Given the description of an element on the screen output the (x, y) to click on. 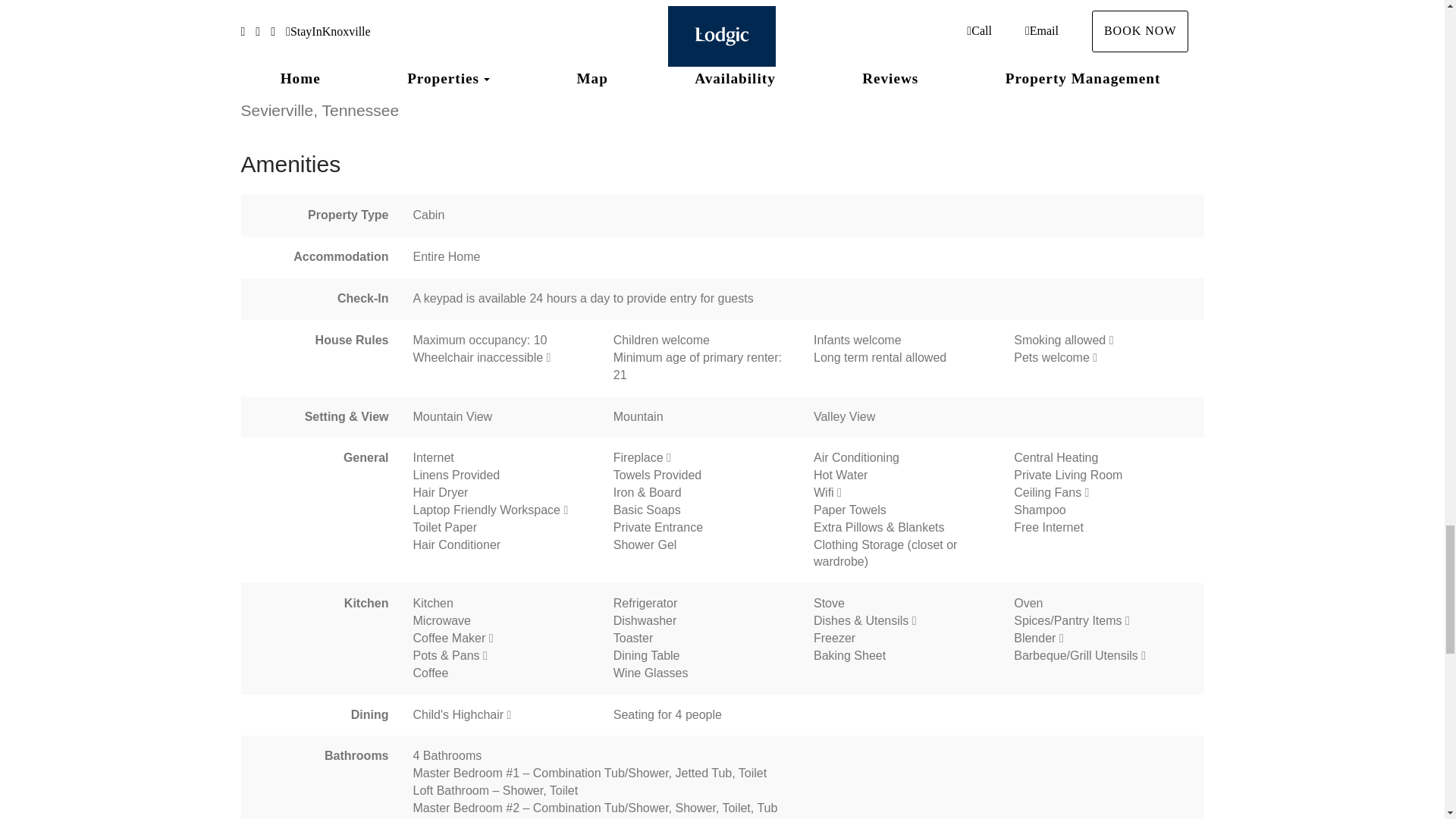
Crockpot included (485, 655)
Blender included (1061, 638)
Children's dinnerware included. (914, 621)
Propane grill with grilling utensils. Propane provided. (1143, 655)
Ceiling fans in each bedroom and living room. (1086, 492)
Properties Map (715, 42)
Child's highchair included. (509, 715)
